Given the description of an element on the screen output the (x, y) to click on. 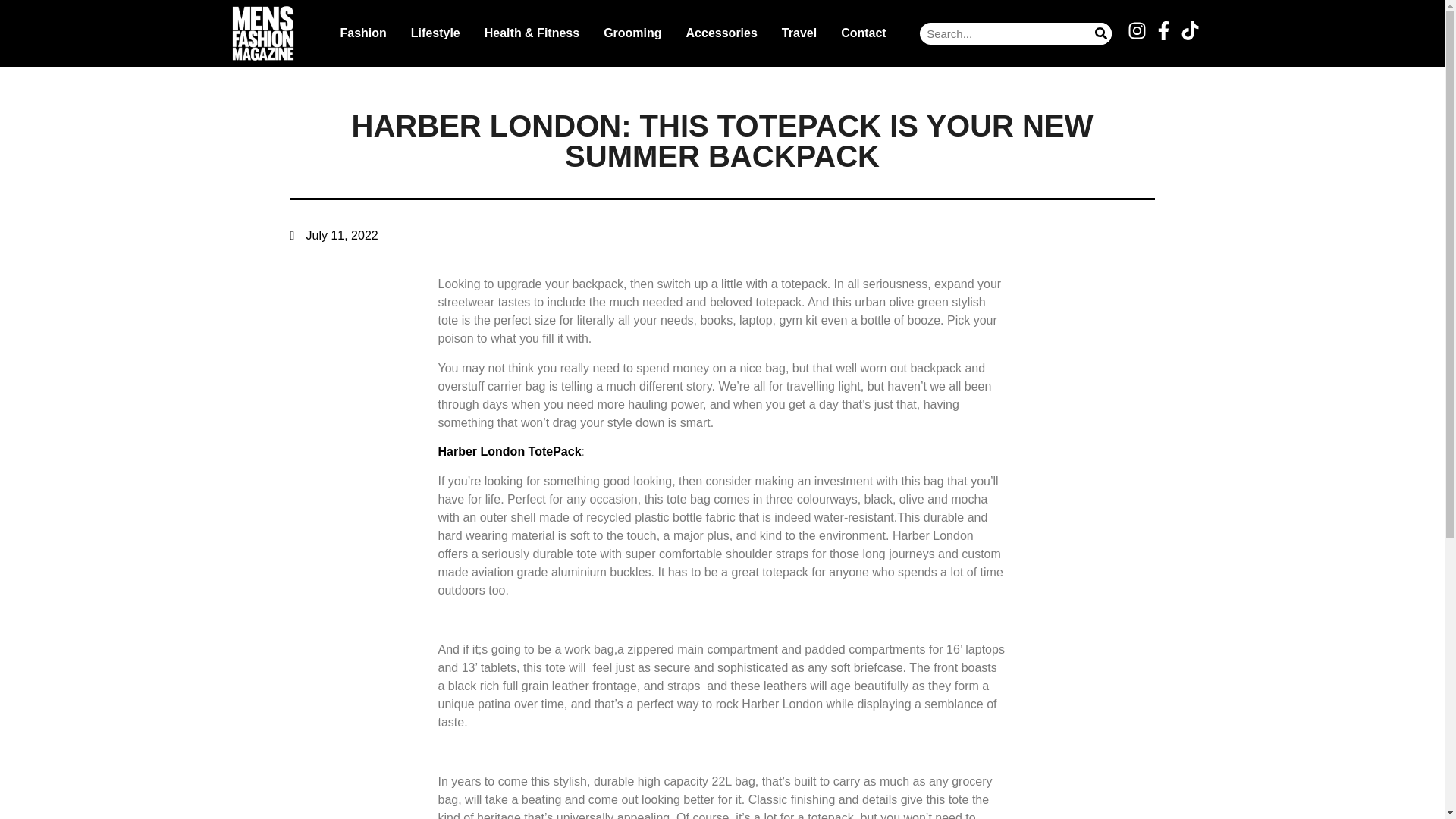
Fashion (362, 33)
Harber London TotePack (509, 451)
Contact (863, 33)
July 11, 2022 (333, 235)
Travel (799, 33)
Lifestyle (434, 33)
Grooming (631, 33)
Accessories (722, 33)
